Given the description of an element on the screen output the (x, y) to click on. 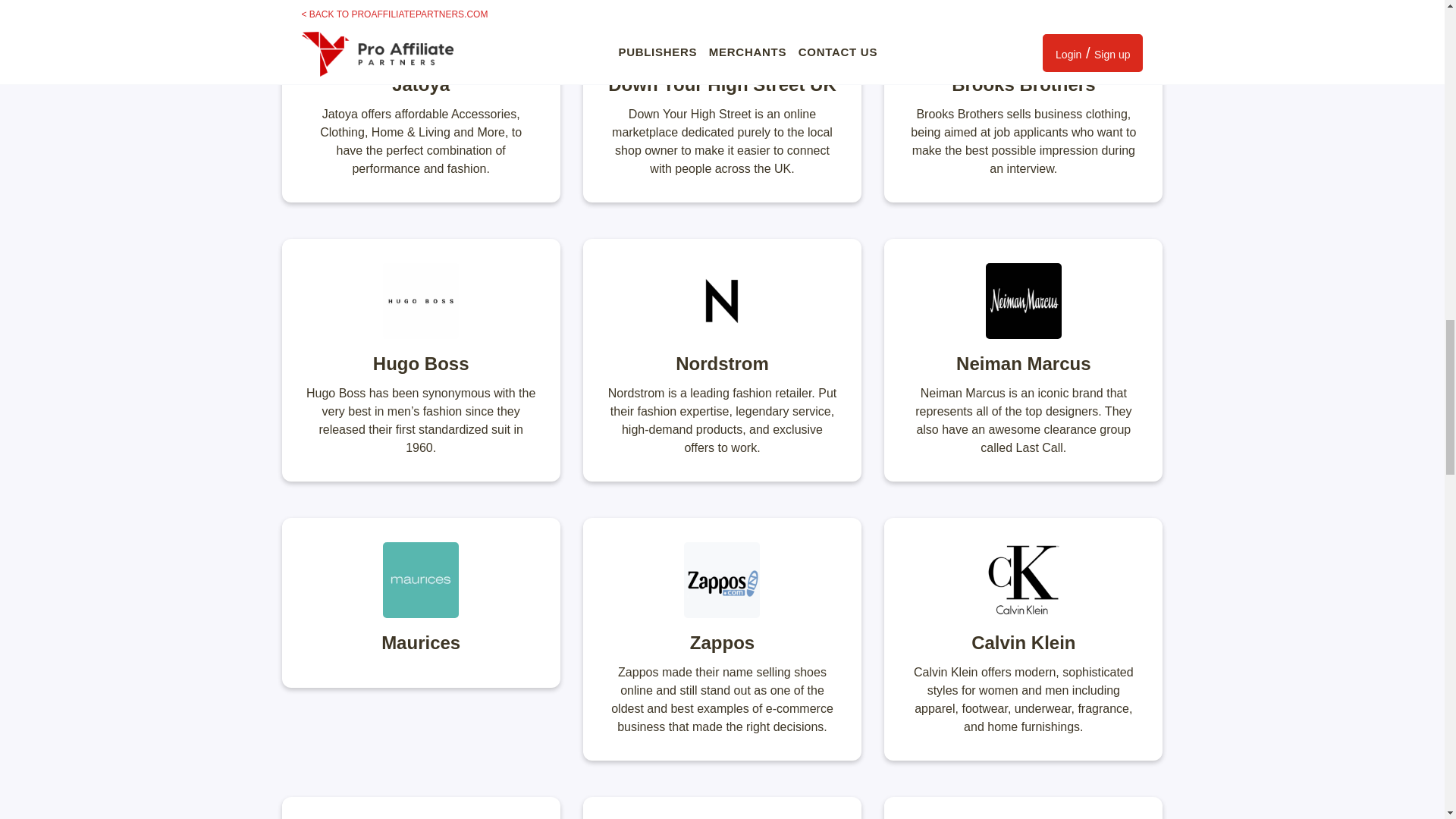
Maurices (421, 602)
